Given the description of an element on the screen output the (x, y) to click on. 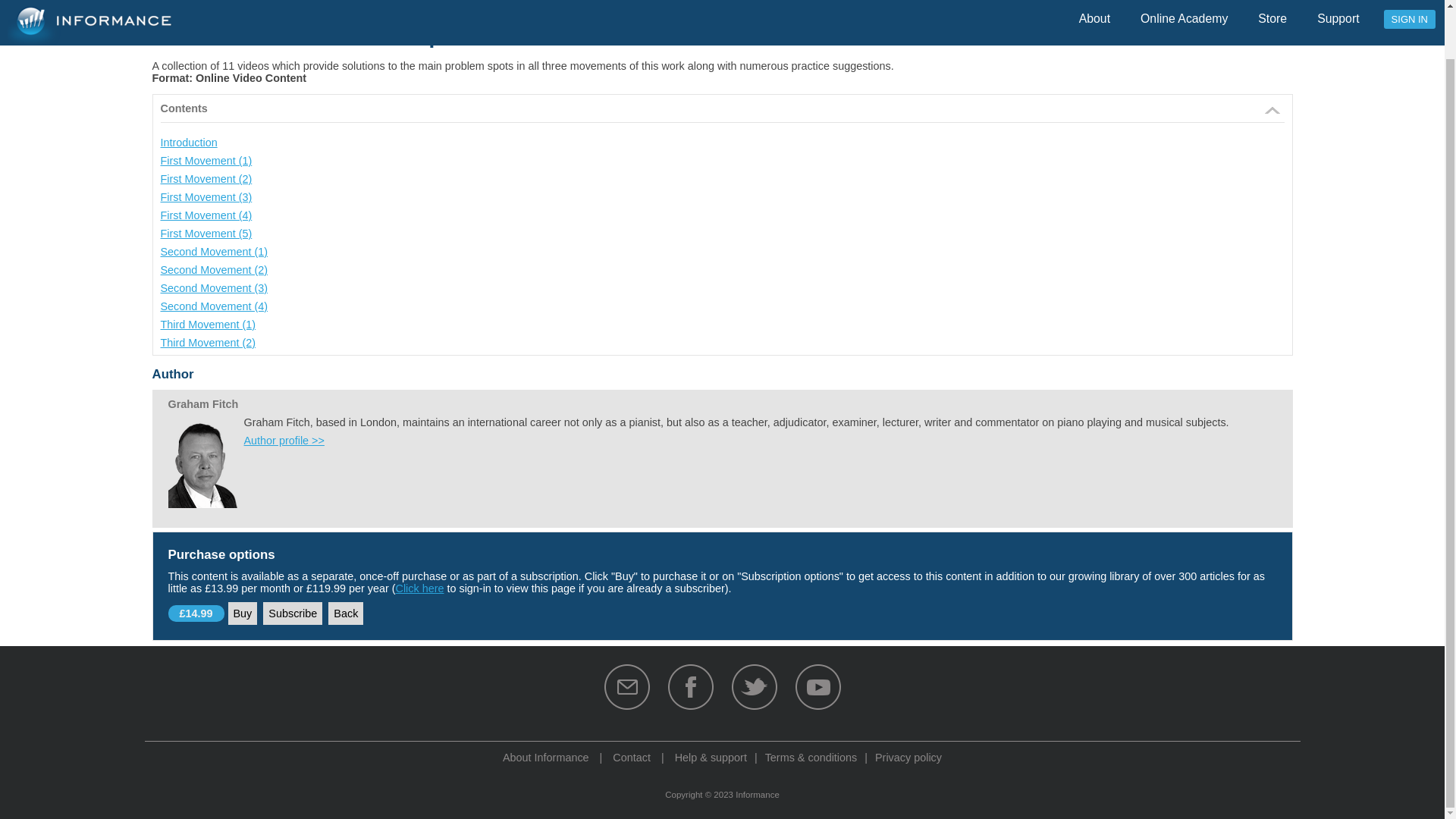
Subscribe (292, 612)
Click here (419, 588)
INFORMANCE (219, 4)
Back (345, 612)
HOME (165, 4)
Introduction (188, 142)
Buy (242, 612)
